Given the description of an element on the screen output the (x, y) to click on. 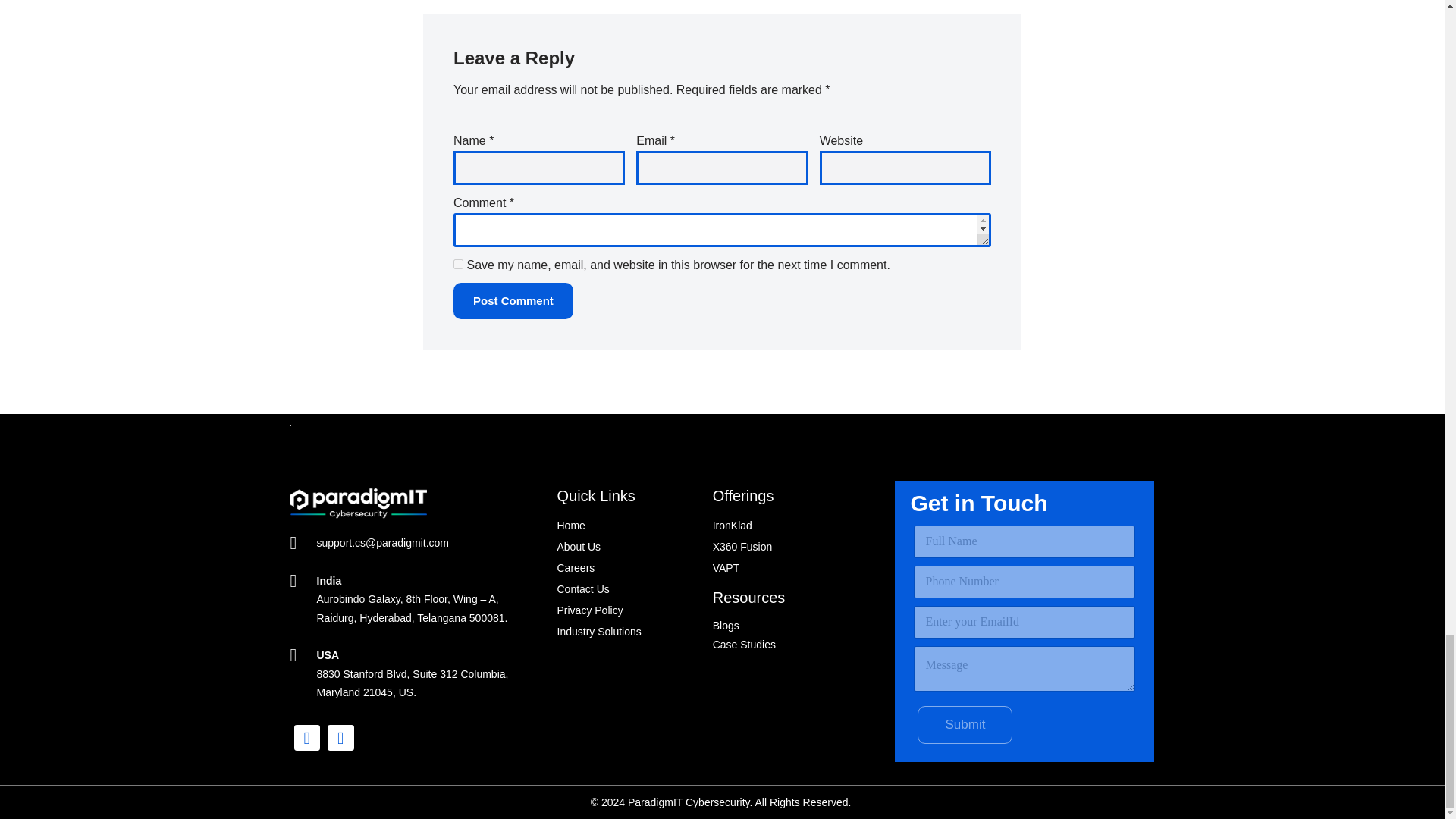
yes (457, 264)
Post Comment (512, 300)
